Given the description of an element on the screen output the (x, y) to click on. 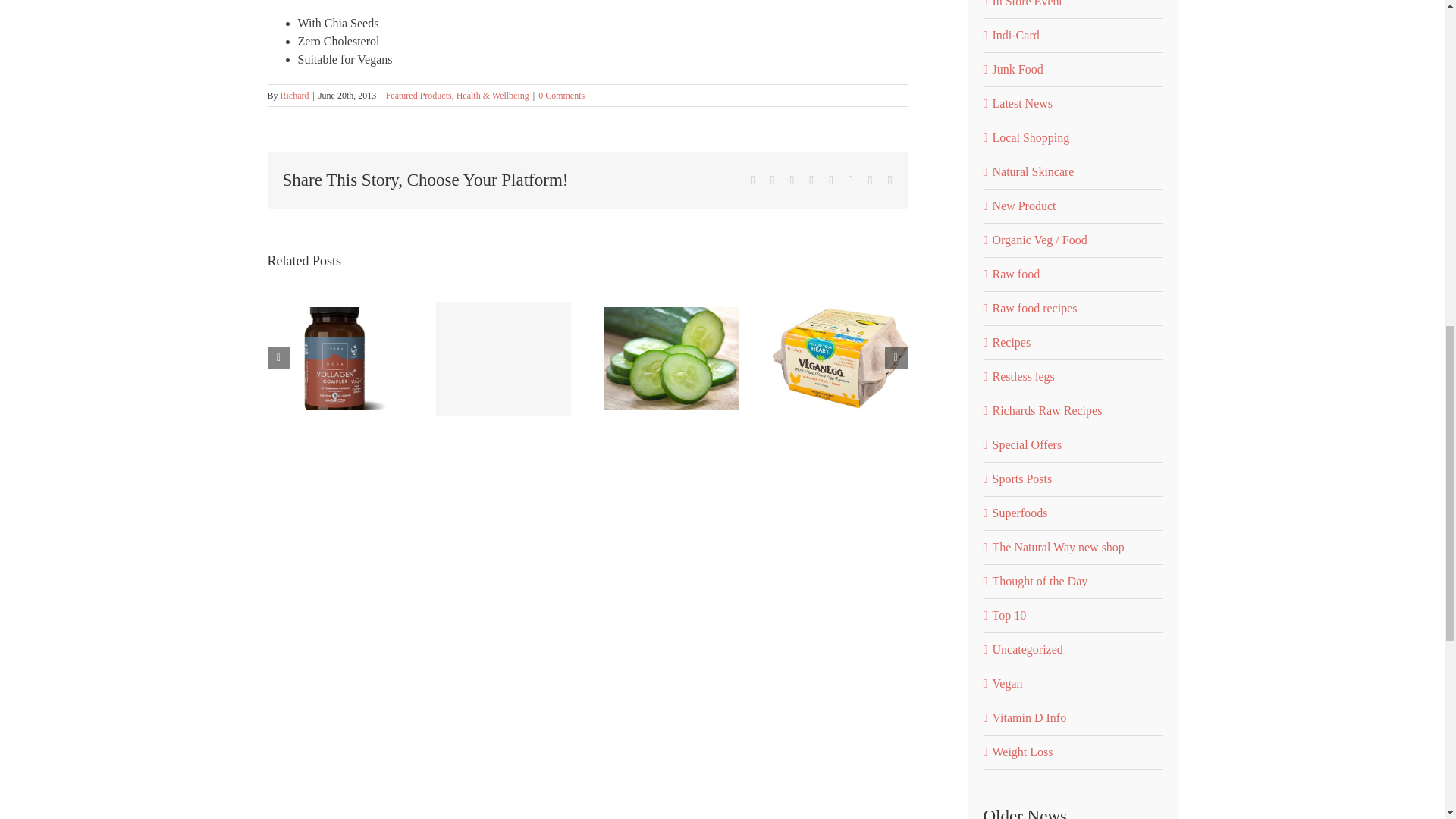
Posts by Richard (294, 95)
